Given the description of an element on the screen output the (x, y) to click on. 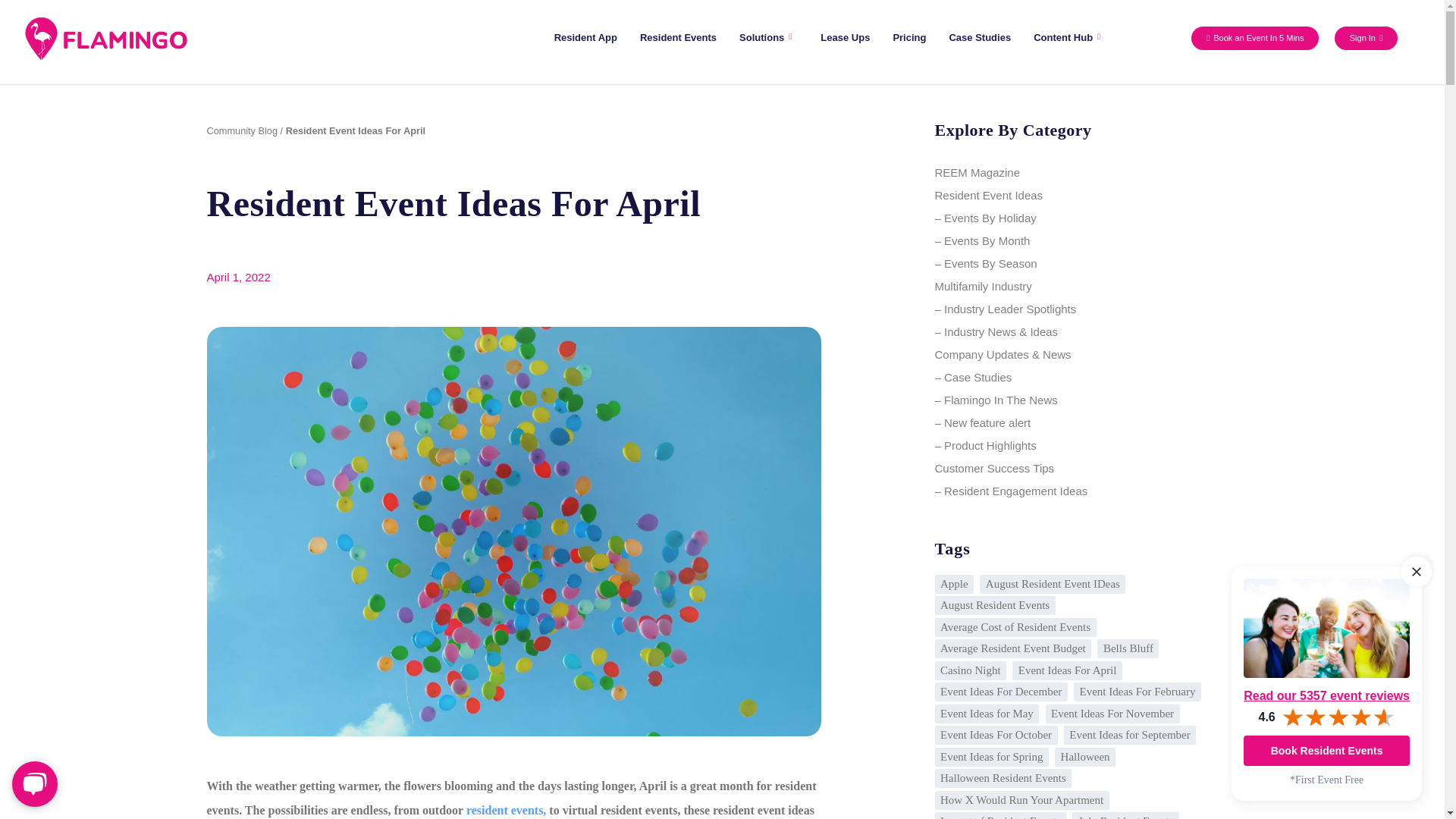
Book an Event In 5 Mins (1255, 37)
Pricing (908, 37)
Content Hub (1070, 37)
Case Studies (979, 37)
Sign In (1366, 37)
Resident App (585, 37)
Lease Ups (844, 37)
Solutions (768, 37)
Resident Events (678, 37)
Chat Widget (37, 782)
